Given the description of an element on the screen output the (x, y) to click on. 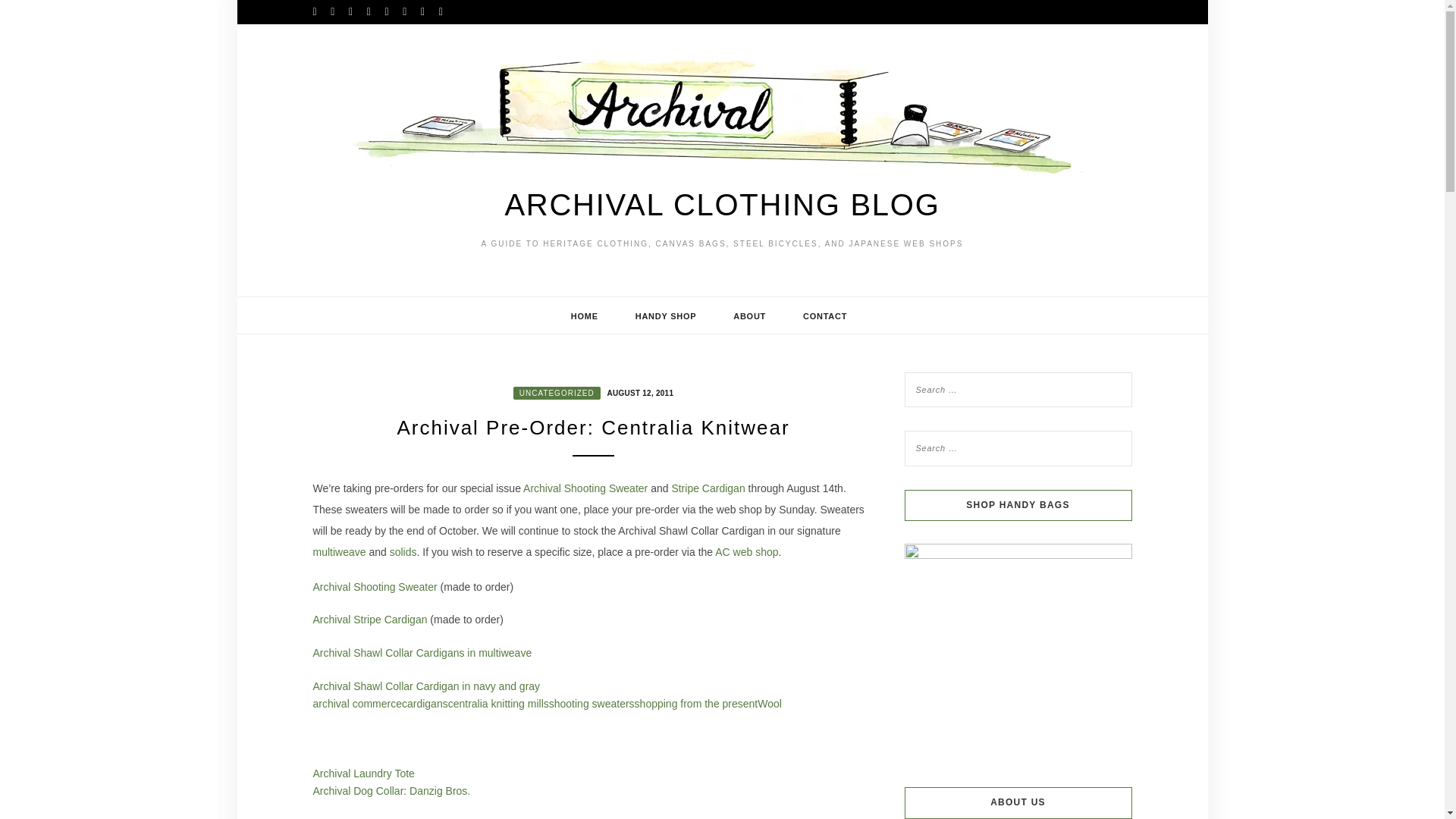
AUGUST 12, 2011 (639, 391)
centralia knitting mills (498, 703)
Stripe Cardigan (709, 488)
solids (403, 551)
Archival Stripe Cardigan (369, 619)
ABOUT (749, 315)
shooting sweaters (591, 703)
cardigans (424, 703)
multiweave (339, 551)
UNCATEGORIZED (556, 392)
